Given the description of an element on the screen output the (x, y) to click on. 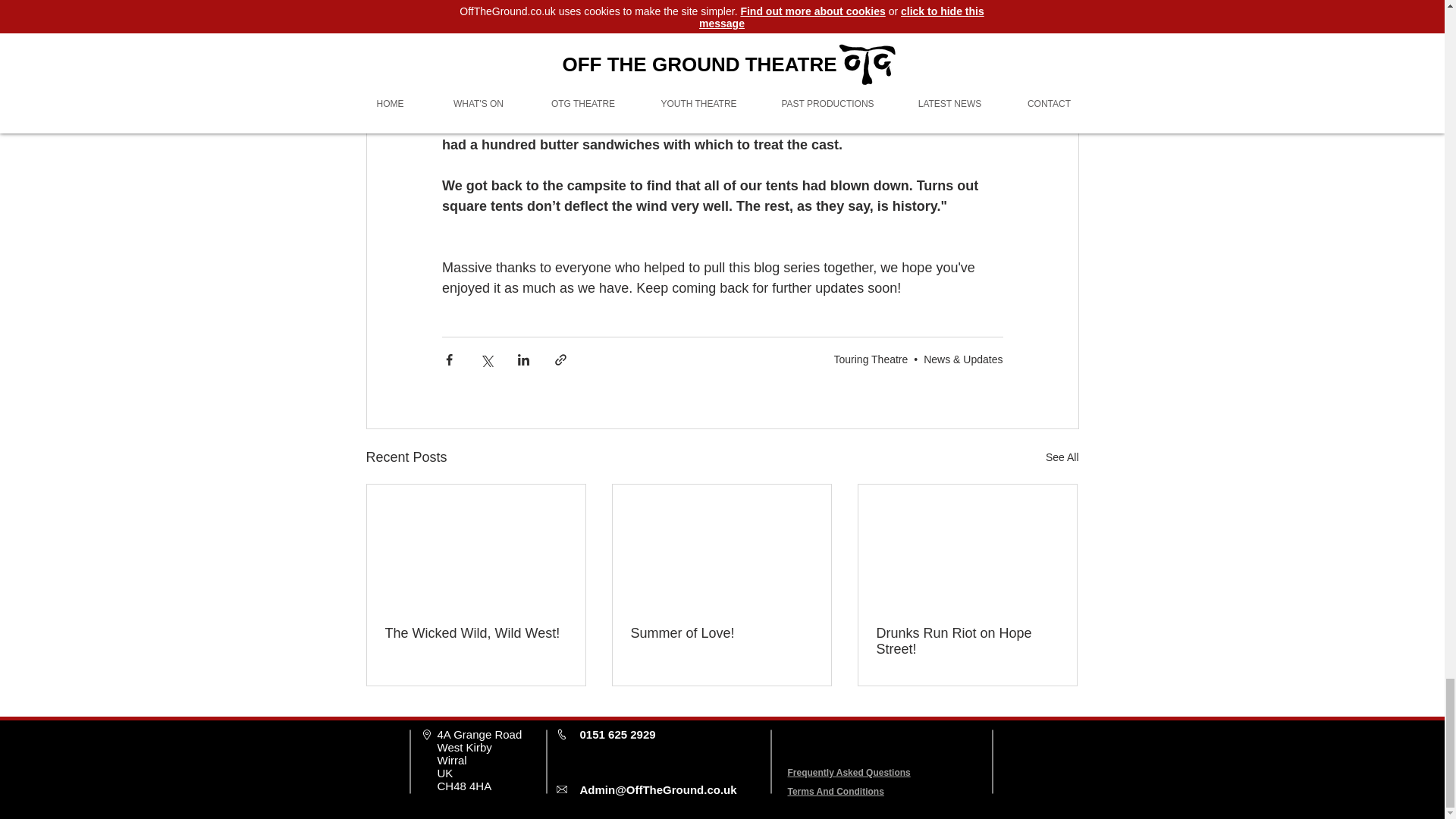
See All (1061, 457)
Summer of Love! (721, 633)
The Wicked Wild, Wild West! (476, 633)
Touring Theatre (871, 358)
